Given the description of an element on the screen output the (x, y) to click on. 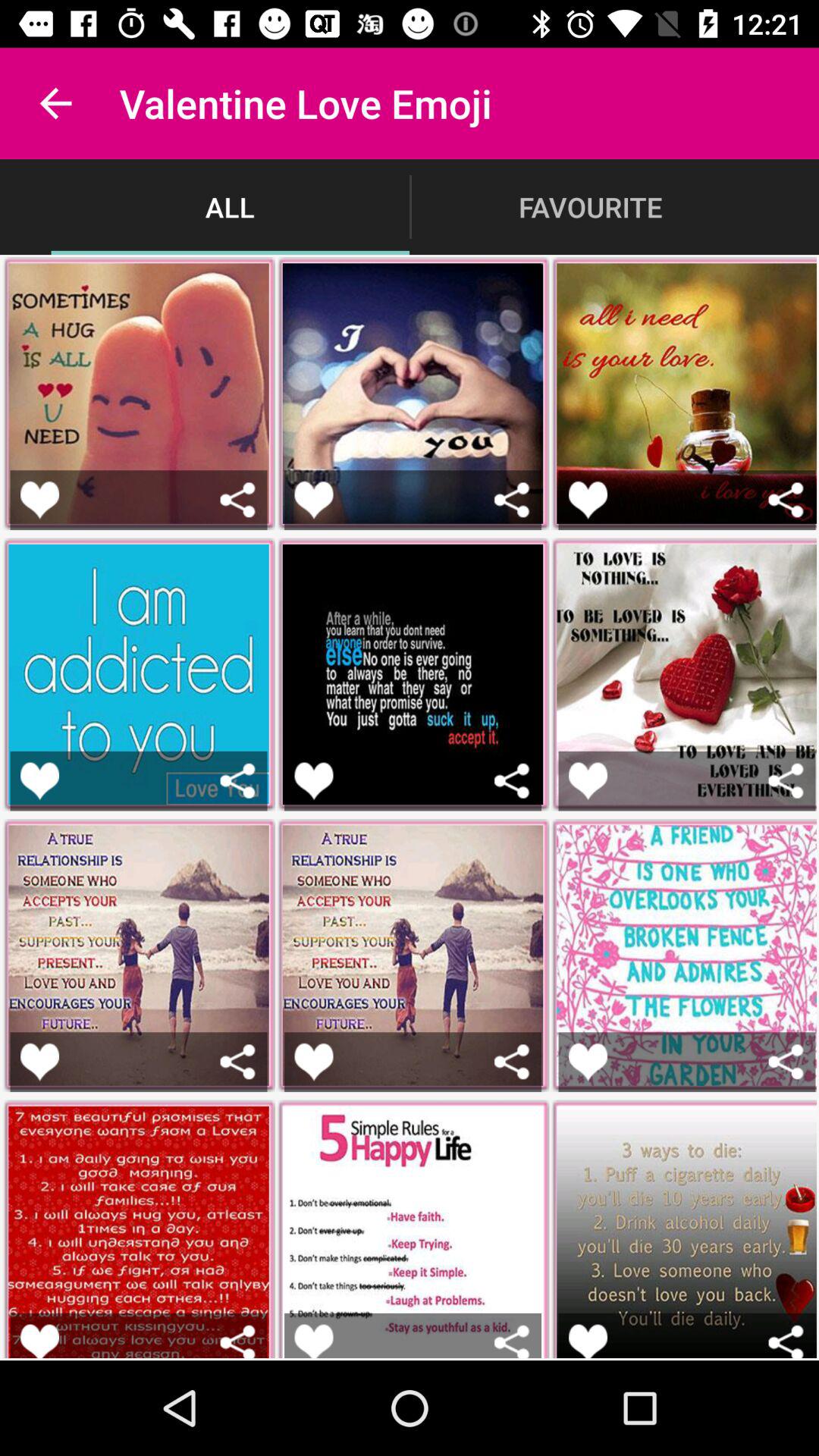
like heart the picture (39, 780)
